Given the description of an element on the screen output the (x, y) to click on. 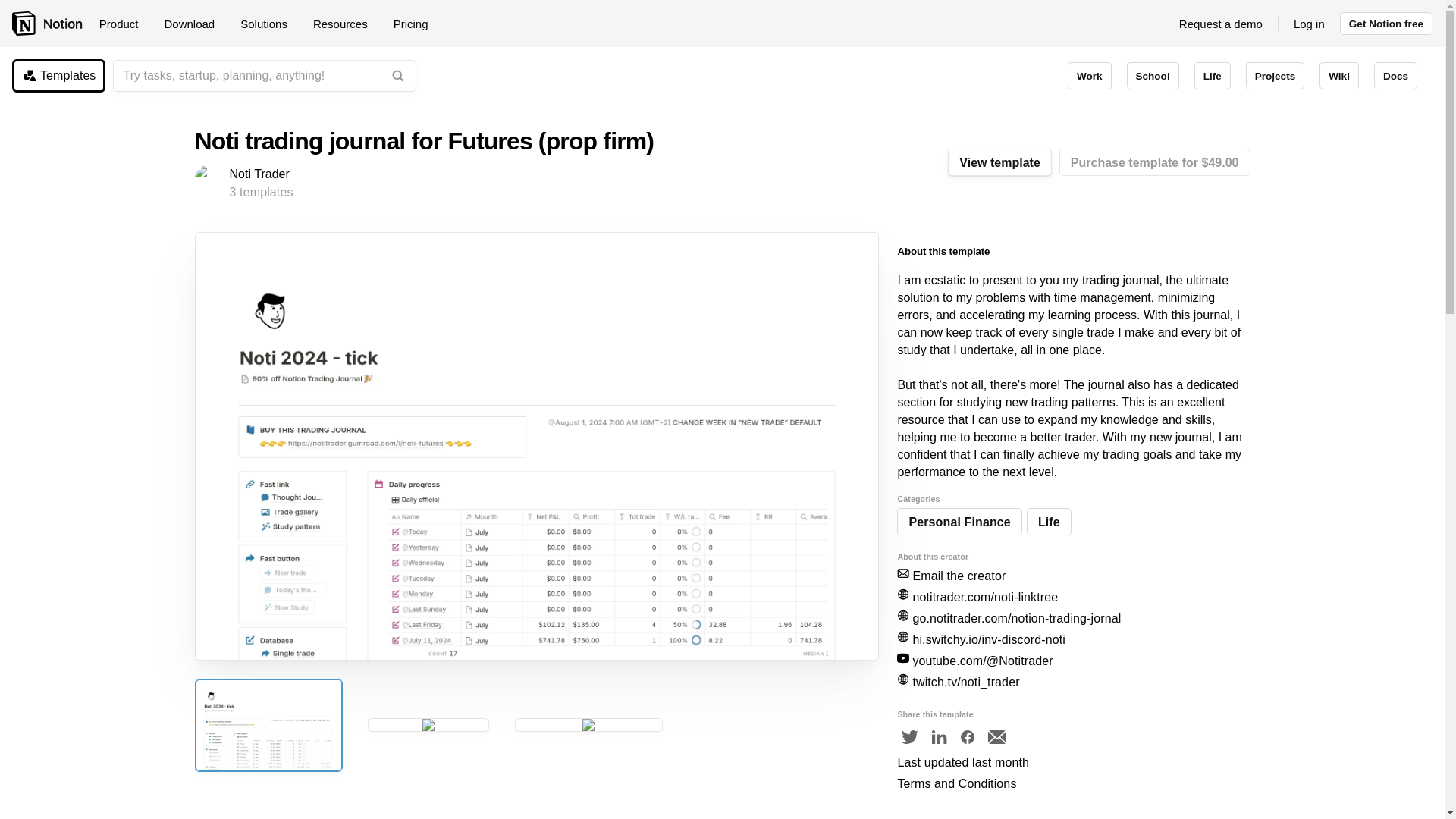
Request a demo (1220, 23)
Product (124, 23)
Resources (345, 23)
Pricing (410, 23)
Download (193, 23)
Solutions (268, 23)
